Given the description of an element on the screen output the (x, y) to click on. 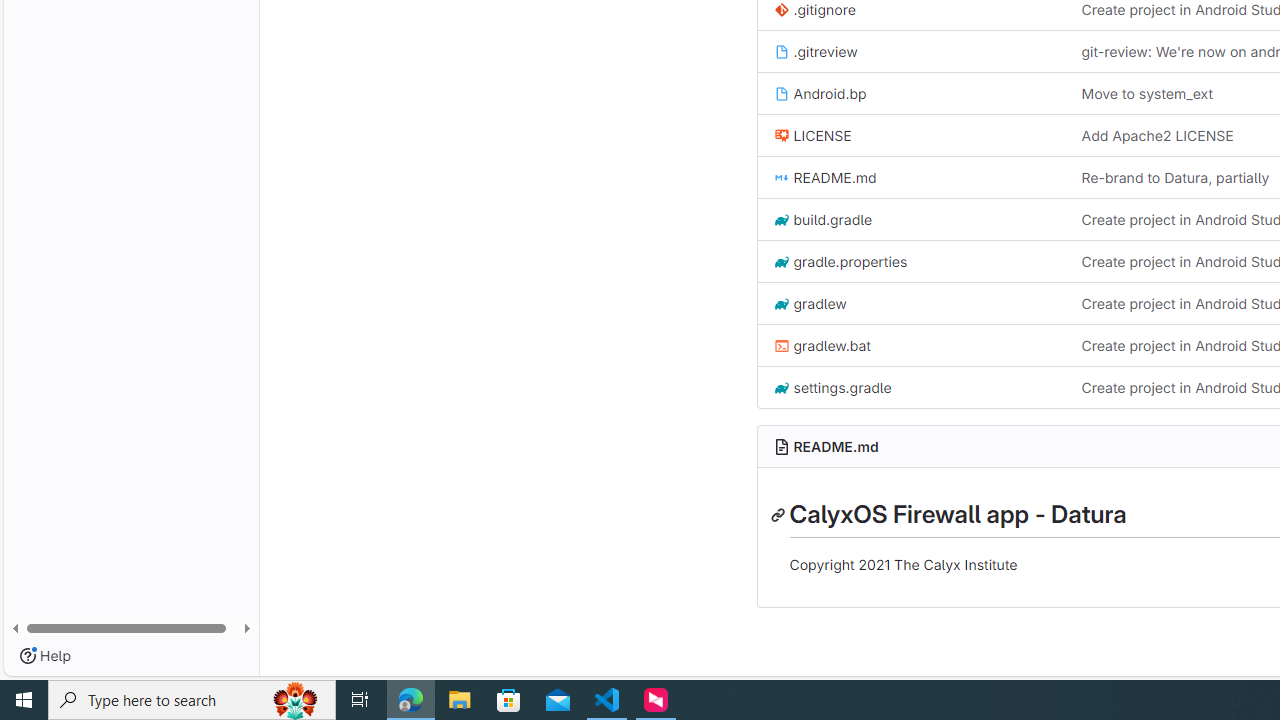
Android.bp (819, 92)
gradlew.bat (821, 344)
gradlew.bat (911, 345)
gradle.properties (840, 261)
build.gradle (911, 219)
build.gradle (822, 218)
Class: s16 position-relative file-icon (781, 388)
Android.bp (911, 93)
gradlew (810, 303)
Move to system_ext (1147, 92)
Re-brand to Datura, partially (1175, 177)
gradlew (911, 303)
LICENSE (812, 135)
LICENSE (911, 134)
README.md (836, 446)
